Given the description of an element on the screen output the (x, y) to click on. 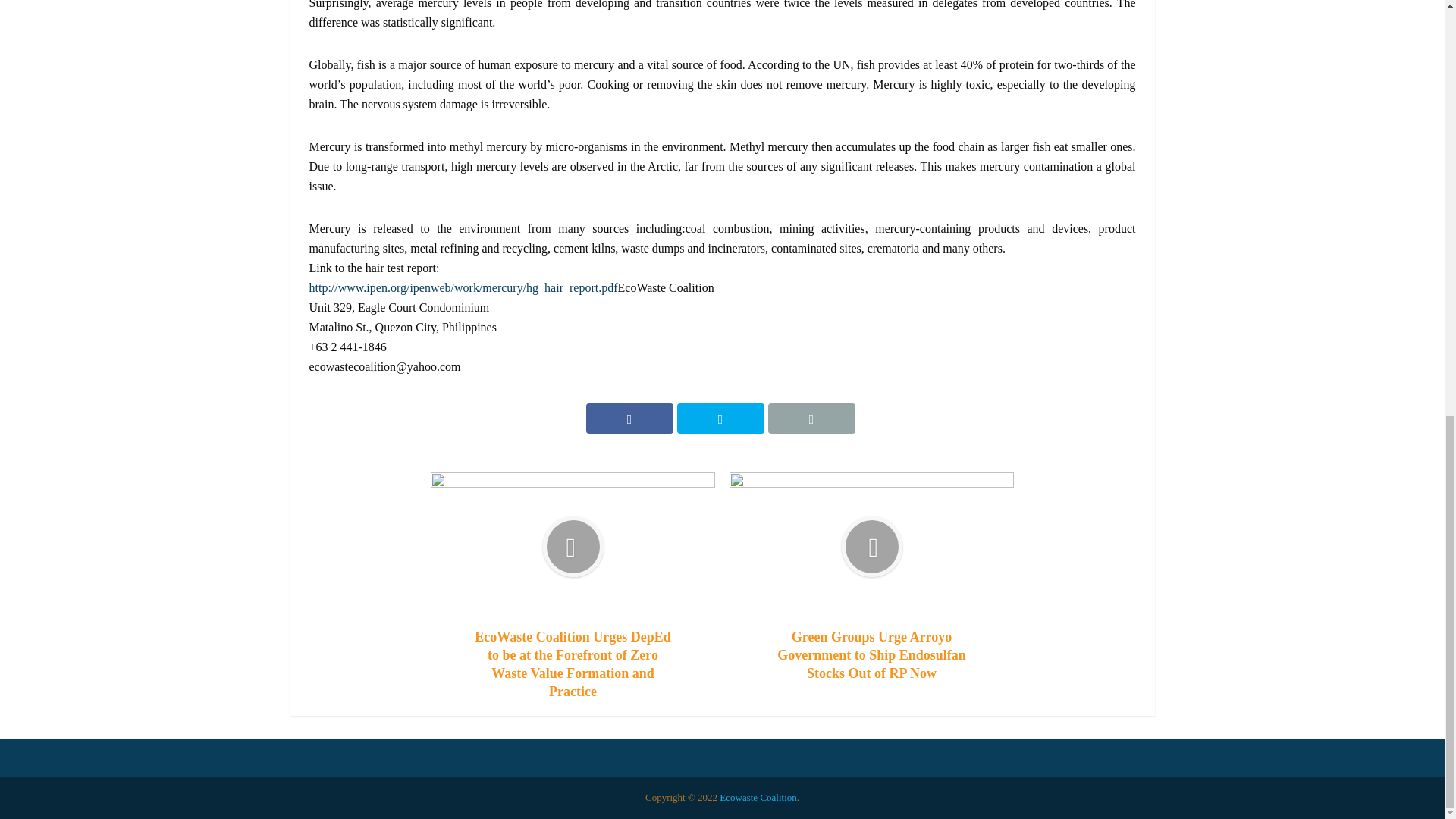
Ecowaste Coalition (757, 797)
